Given the description of an element on the screen output the (x, y) to click on. 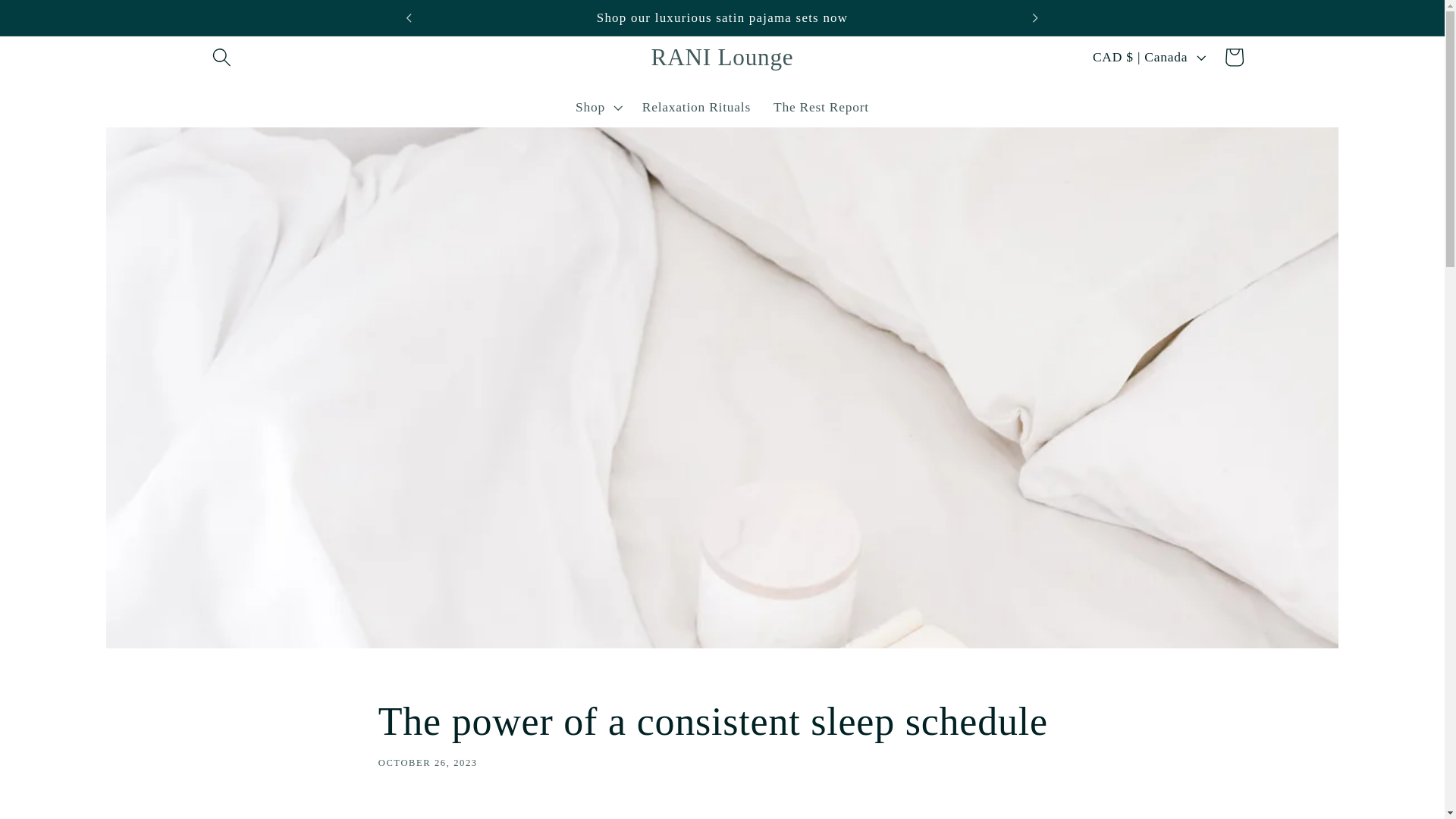
RANI Lounge (721, 56)
Skip to content (722, 732)
Cart (59, 23)
The Rest Report (1233, 56)
Relaxation Rituals (820, 107)
Share (695, 107)
